Given the description of an element on the screen output the (x, y) to click on. 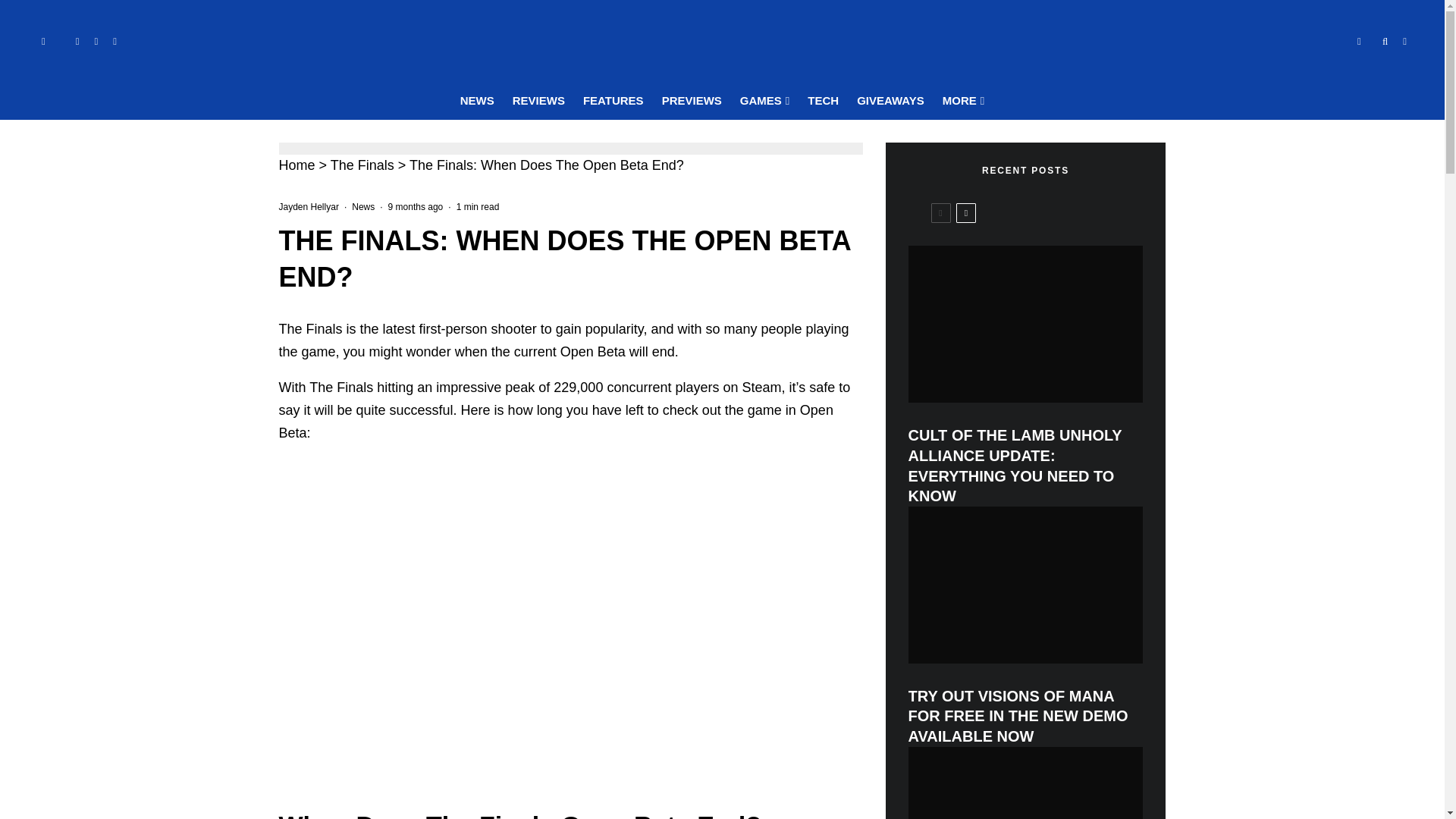
REVIEWS (538, 100)
NEWS (477, 100)
